Given the description of an element on the screen output the (x, y) to click on. 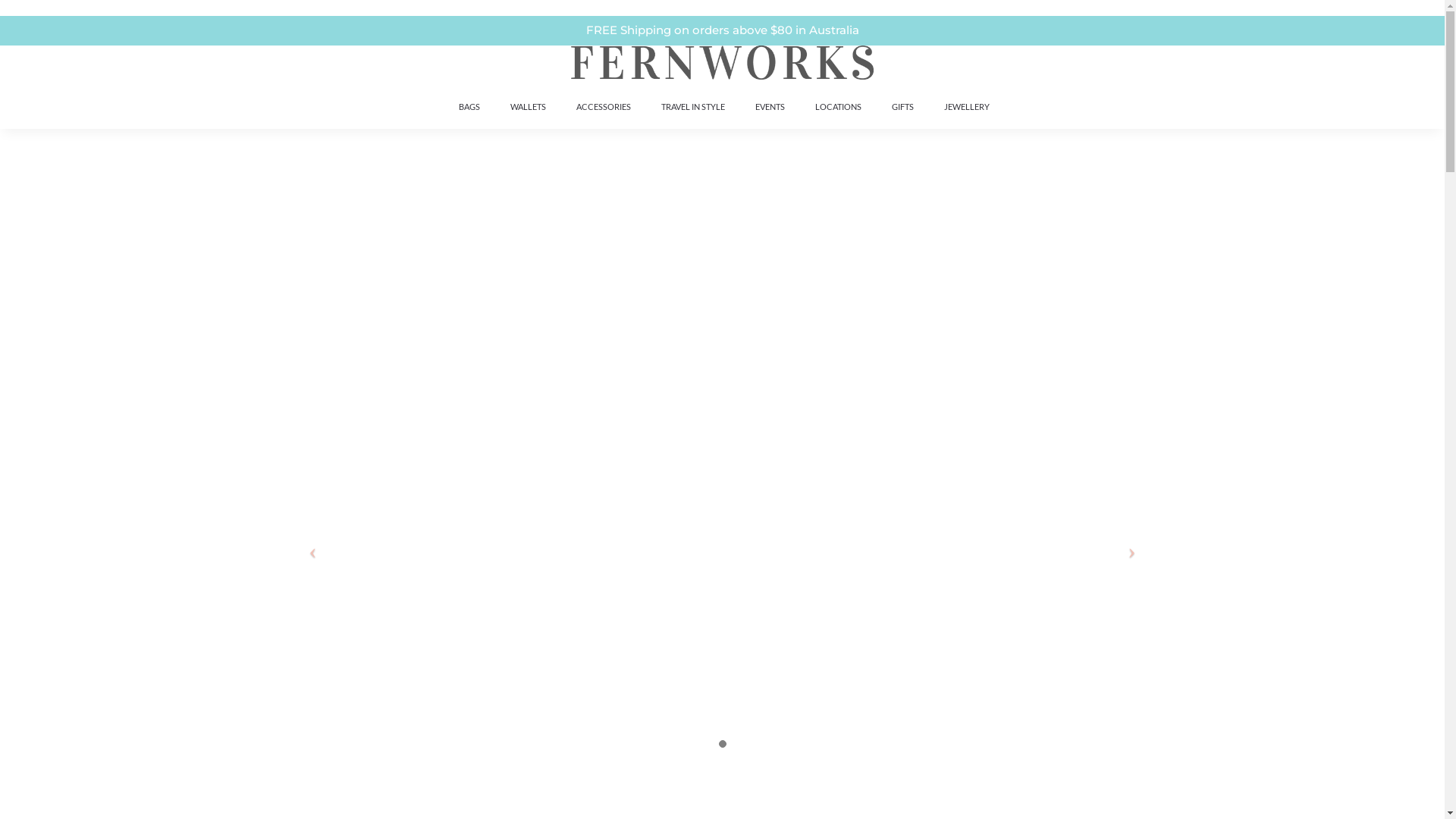
TRAVEL IN STYLE Element type: text (693, 105)
JEWELLERY Element type: text (966, 105)
GIFTS Element type: text (902, 105)
BAGS Element type: text (468, 105)
EVENTS Element type: text (770, 105)
FERNWORKS Element type: text (424, 97)
LOCATIONS Element type: text (837, 105)
WALLETS Element type: text (527, 105)
ACCESSORIES Element type: text (603, 105)
